Given the description of an element on the screen output the (x, y) to click on. 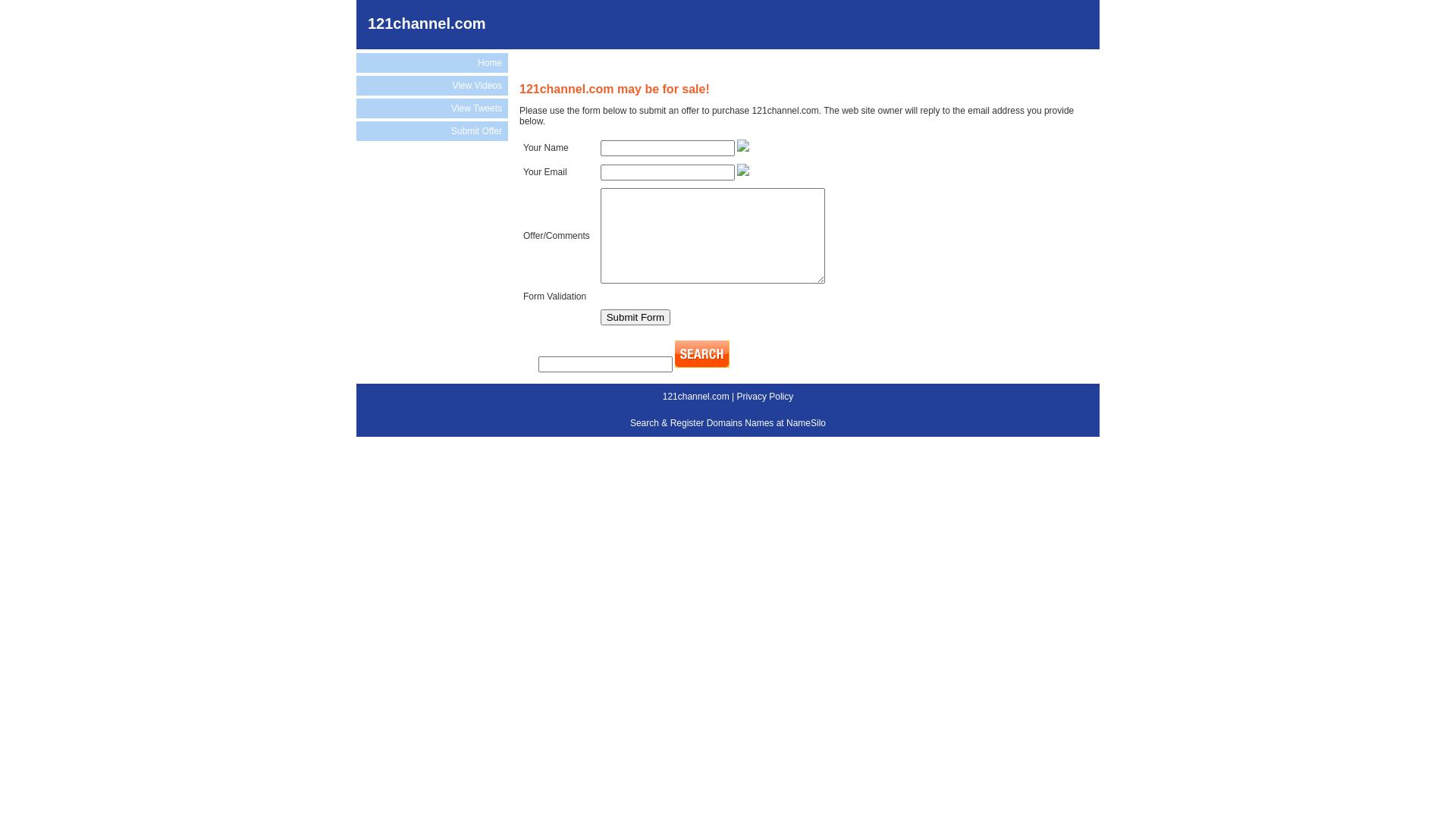
View Tweets Element type: text (432, 108)
View Videos Element type: text (432, 85)
Submit Form Element type: text (635, 317)
Privacy Policy Element type: text (765, 396)
Search & Register Domains Names at NameSilo Element type: text (727, 422)
Home Element type: text (432, 62)
Submit Offer Element type: text (432, 131)
